Given the description of an element on the screen output the (x, y) to click on. 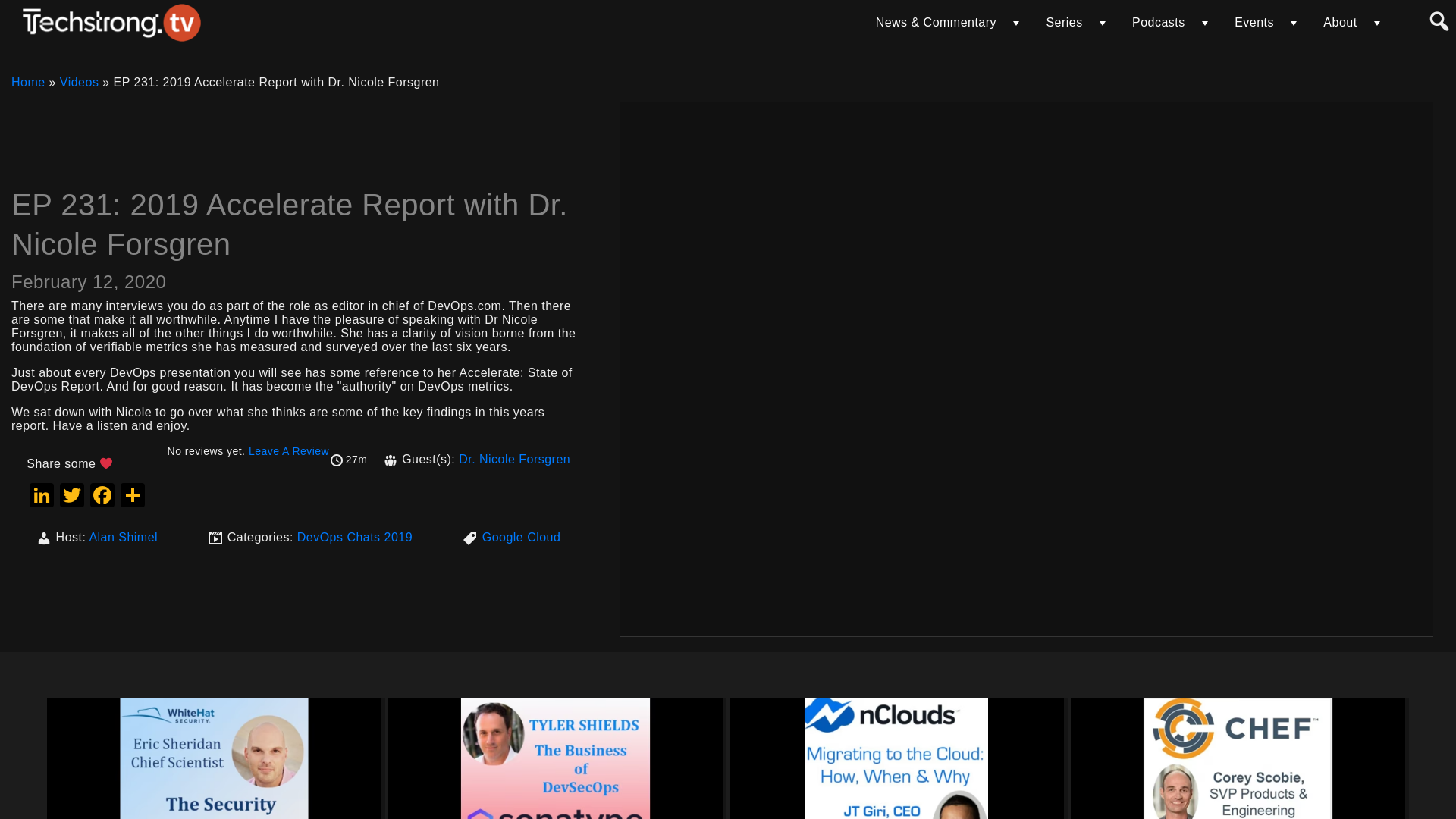
Podcasts (1158, 22)
LinkedIn (41, 497)
Twitter (71, 497)
Series (1063, 22)
About (1339, 22)
Events (1254, 22)
Facebook (102, 497)
